Given the description of an element on the screen output the (x, y) to click on. 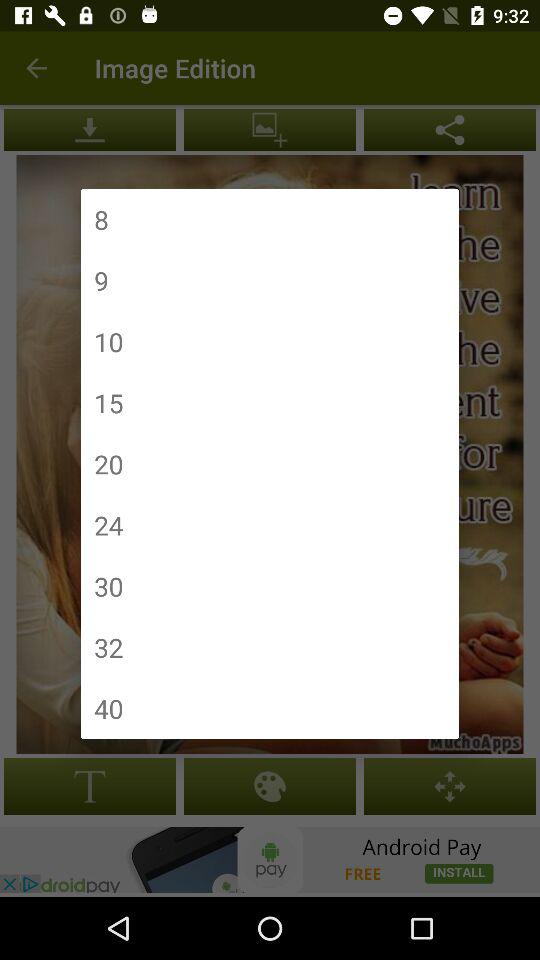
scroll until the 40 item (108, 708)
